Given the description of an element on the screen output the (x, y) to click on. 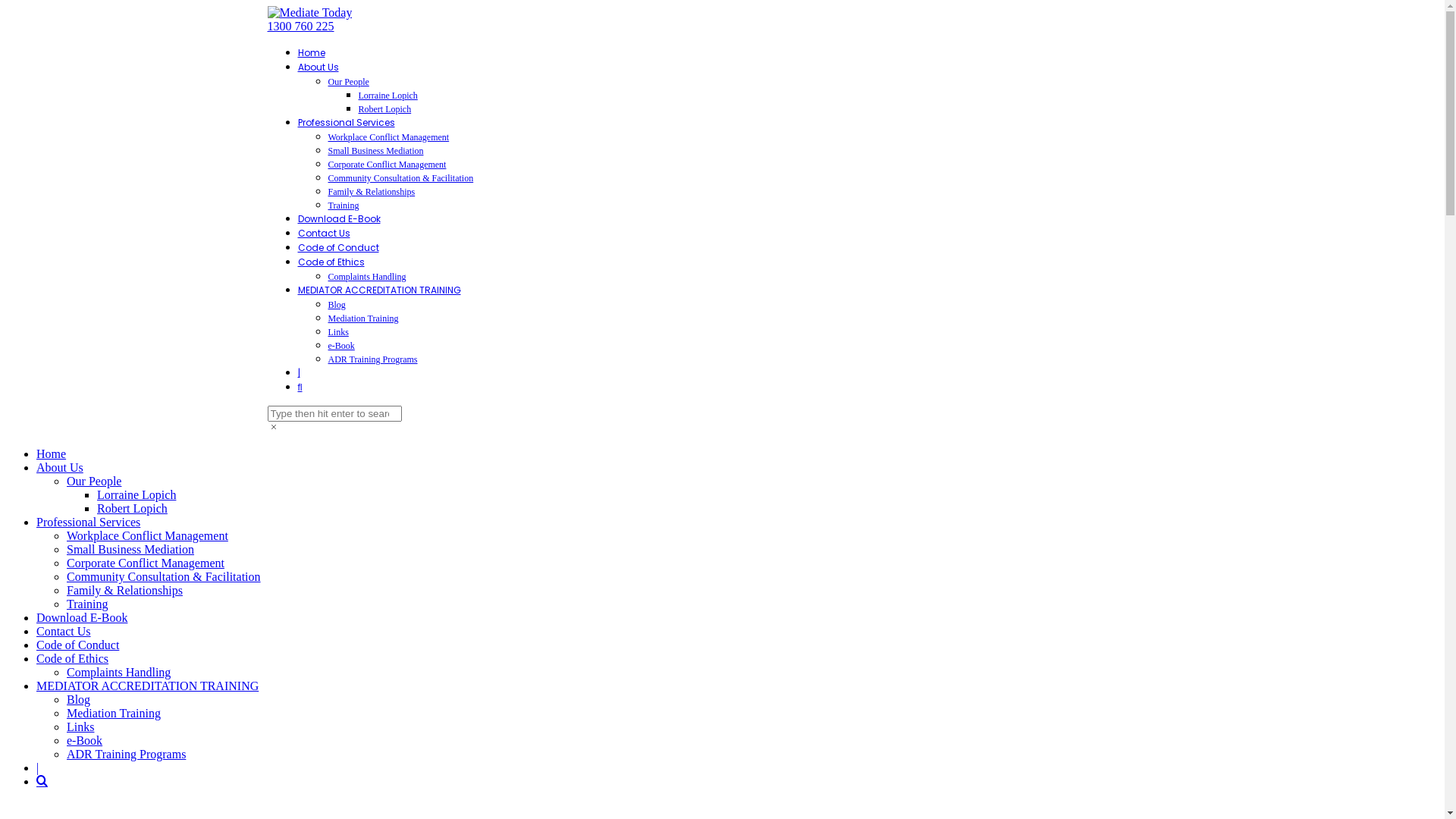
Community Consultation & Facilitation Element type: text (163, 576)
Professional Services Element type: text (88, 521)
About Us Element type: text (59, 467)
Lorraine Lopich Element type: text (136, 494)
Lorraine Lopich Element type: text (387, 95)
ADR Training Programs Element type: text (125, 753)
Complaints Handling Element type: text (118, 671)
Code of Conduct Element type: text (77, 644)
Corporate Conflict Management Element type: text (386, 164)
Blog Element type: text (336, 304)
| Element type: text (298, 372)
Workplace Conflict Management Element type: text (147, 535)
Download E-Book Element type: text (81, 617)
Links Element type: text (337, 331)
e-Book Element type: text (84, 740)
Training Element type: text (342, 205)
Family & Relationships Element type: text (370, 191)
| Element type: text (37, 767)
MEDIATOR ACCREDITATION TRAINING Element type: text (147, 685)
Mediate Today Element type: hover (308, 12)
Our People Element type: text (93, 480)
Small Business Mediation Element type: text (130, 548)
Family & Relationships Element type: text (124, 589)
e-Book Element type: text (340, 345)
Robert Lopich Element type: text (132, 508)
Code of Ethics Element type: text (72, 658)
ADR Training Programs Element type: text (372, 359)
Mediation Training Element type: text (362, 318)
Mediation Training Element type: text (113, 712)
1300 760 225 Element type: text (299, 25)
Home Element type: text (310, 52)
Download E-Book Element type: text (338, 218)
Contact Us Element type: text (63, 630)
Code of Conduct Element type: text (337, 247)
Home Element type: text (50, 453)
Contact Us Element type: text (323, 232)
Blog Element type: text (78, 699)
About Us Element type: text (317, 66)
Professional Services Element type: text (345, 122)
Code of Ethics Element type: text (330, 261)
Workplace Conflict Management Element type: text (387, 136)
Training Element type: text (87, 603)
Corporate Conflict Management Element type: text (145, 562)
Our People Element type: text (347, 81)
Links Element type: text (80, 726)
Robert Lopich Element type: text (384, 108)
Community Consultation & Facilitation Element type: text (400, 177)
MEDIATOR ACCREDITATION TRAINING Element type: text (378, 289)
Small Business Mediation Element type: text (375, 150)
Complaints Handling Element type: text (366, 276)
